Given the description of an element on the screen output the (x, y) to click on. 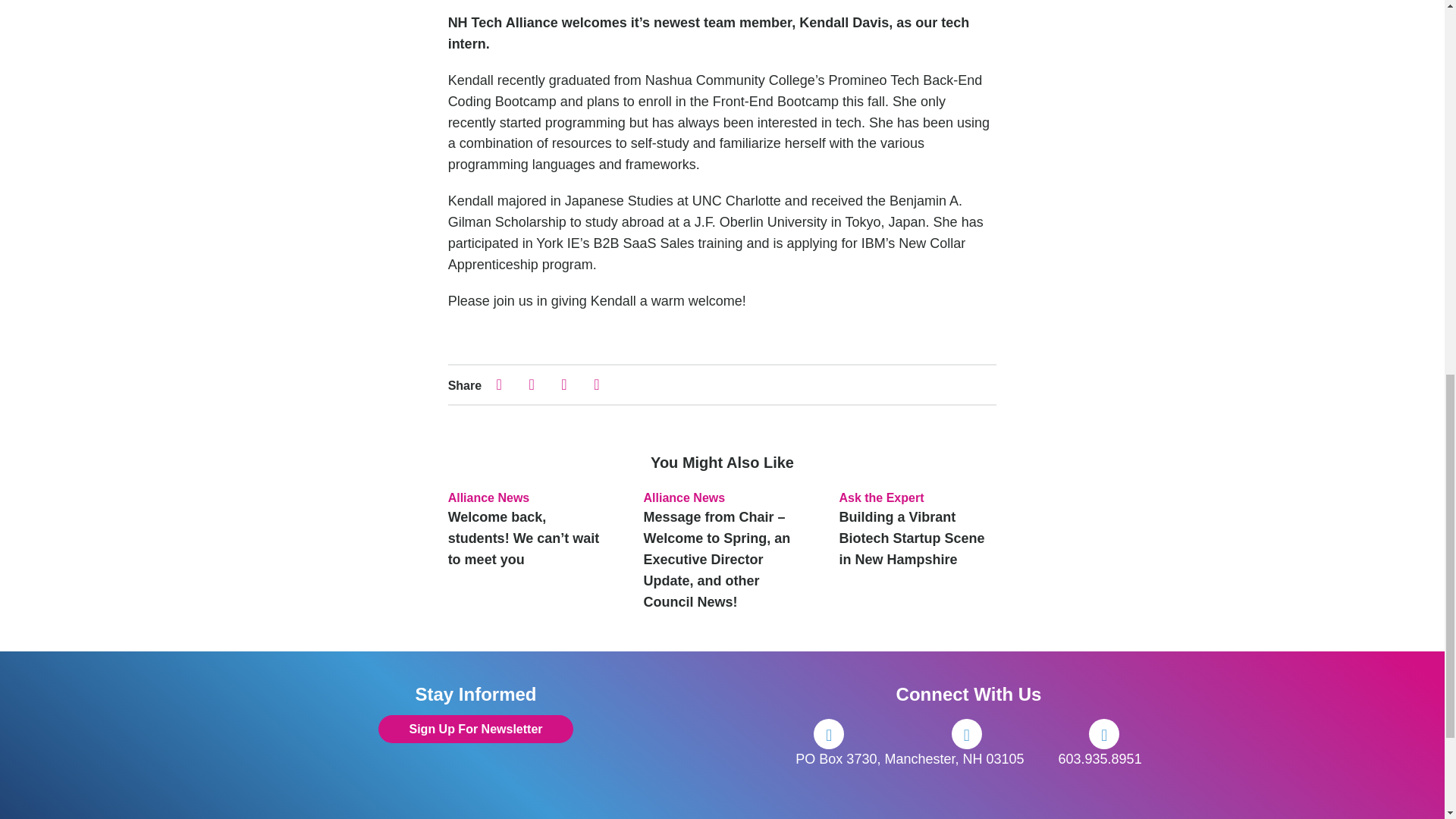
Twitter (966, 734)
Facebook (828, 734)
LinkedIn (1104, 734)
